Given the description of an element on the screen output the (x, y) to click on. 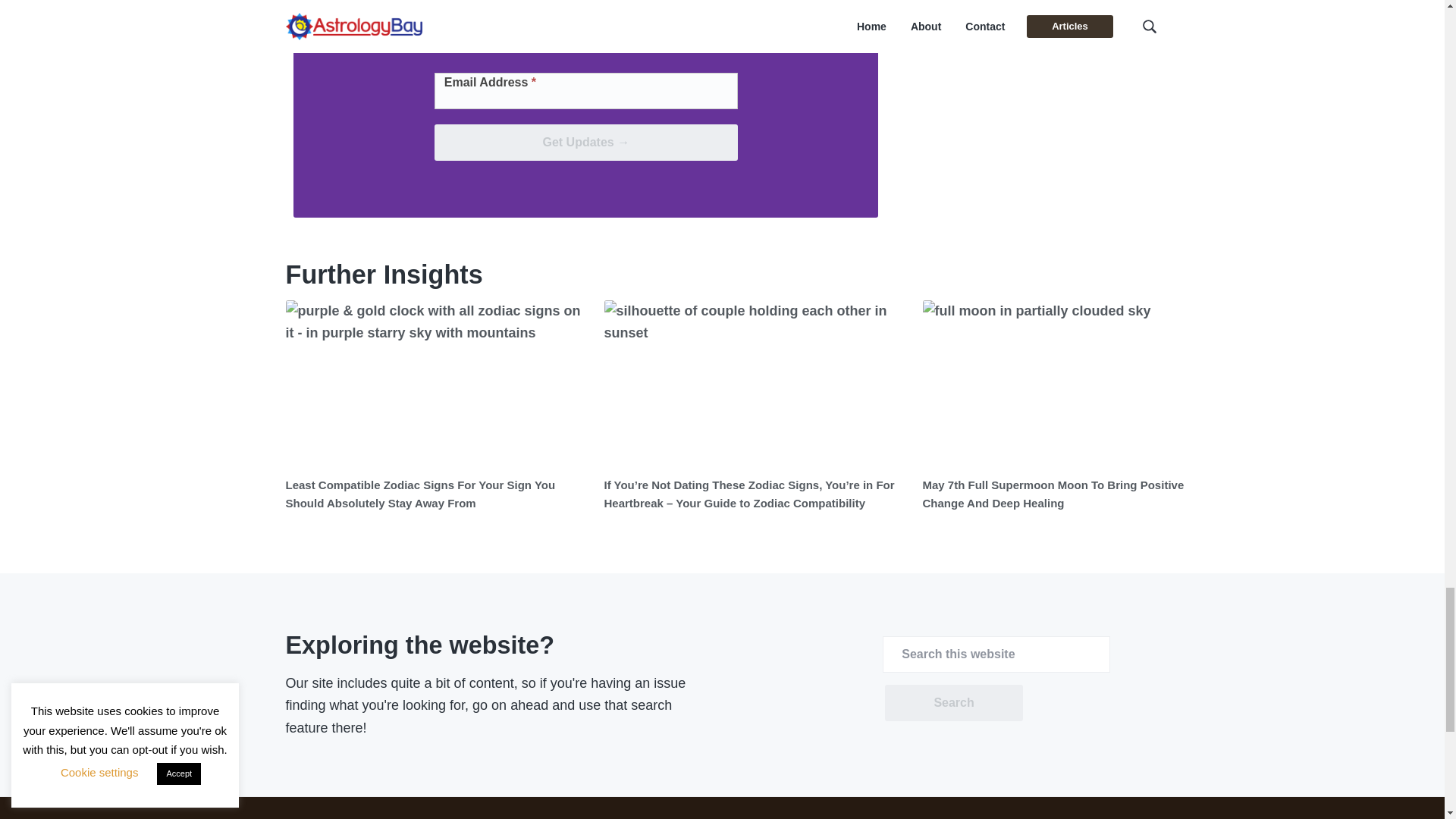
Search (953, 702)
Search (953, 702)
